Given the description of an element on the screen output the (x, y) to click on. 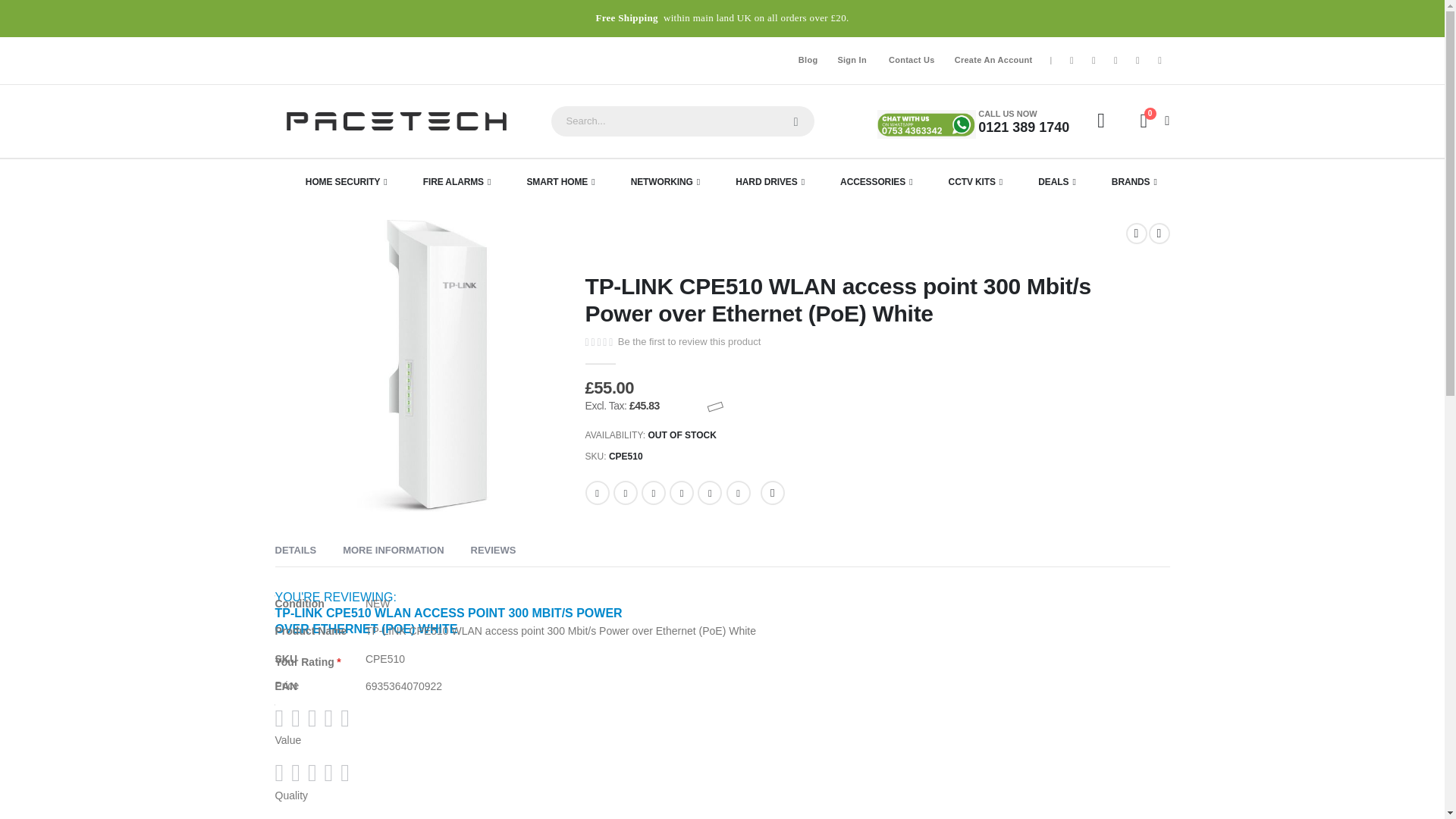
Blog (808, 60)
Contact Us (911, 60)
HOME SECURITY (346, 181)
linkedin (1136, 60)
Home Security (346, 181)
Search (795, 121)
13 (1151, 121)
1 (993, 60)
10 (1159, 60)
